Given the description of an element on the screen output the (x, y) to click on. 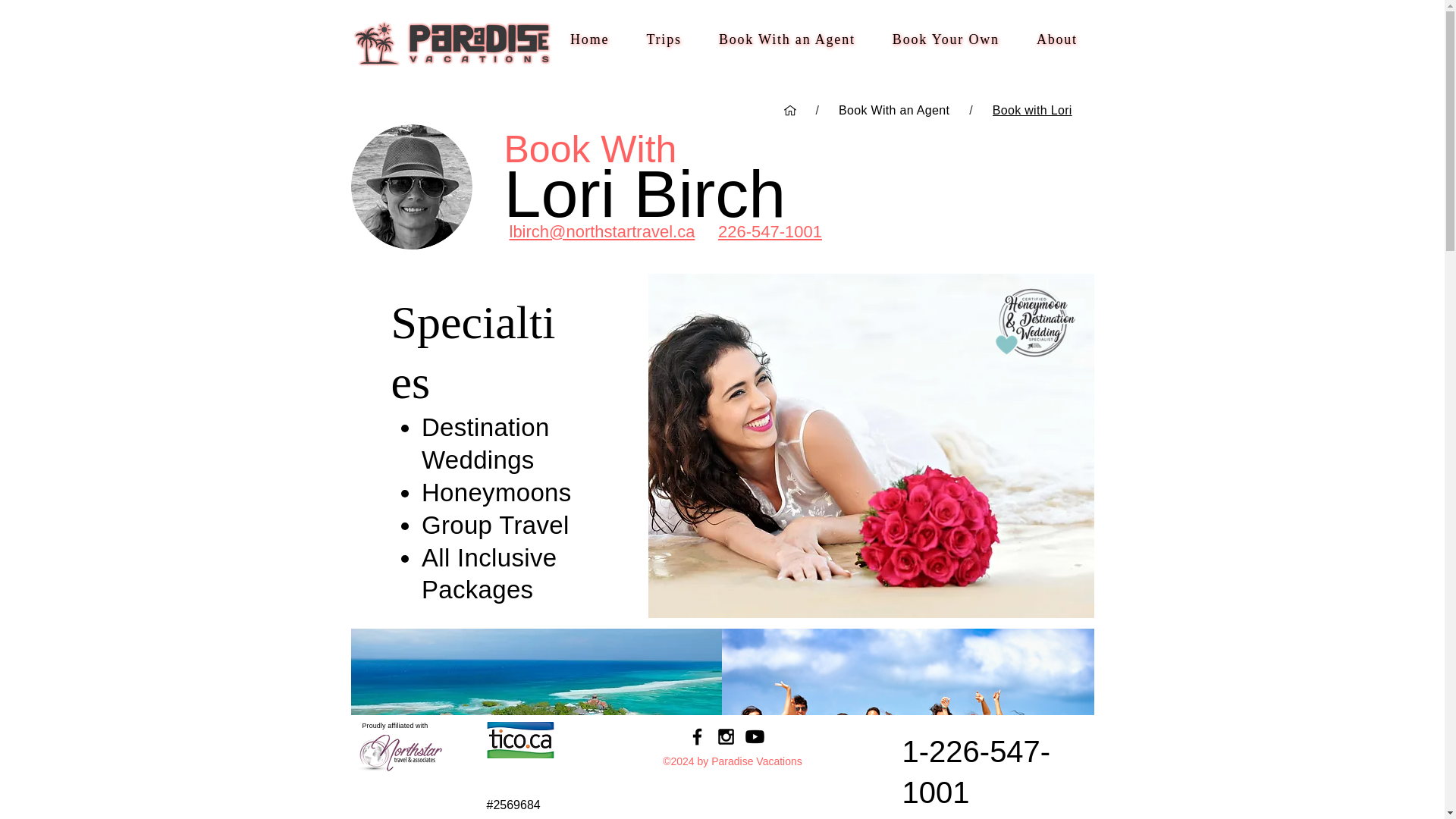
Trips (663, 39)
About (1056, 39)
guy3.jpg (410, 186)
Home (589, 39)
Book With an Agent (893, 110)
1-226-547-1001 (976, 770)
Book Your Own (945, 39)
Book With an Agent (786, 39)
Paradise Vacations logo (452, 42)
226-547-1001 (769, 230)
